Given the description of an element on the screen output the (x, y) to click on. 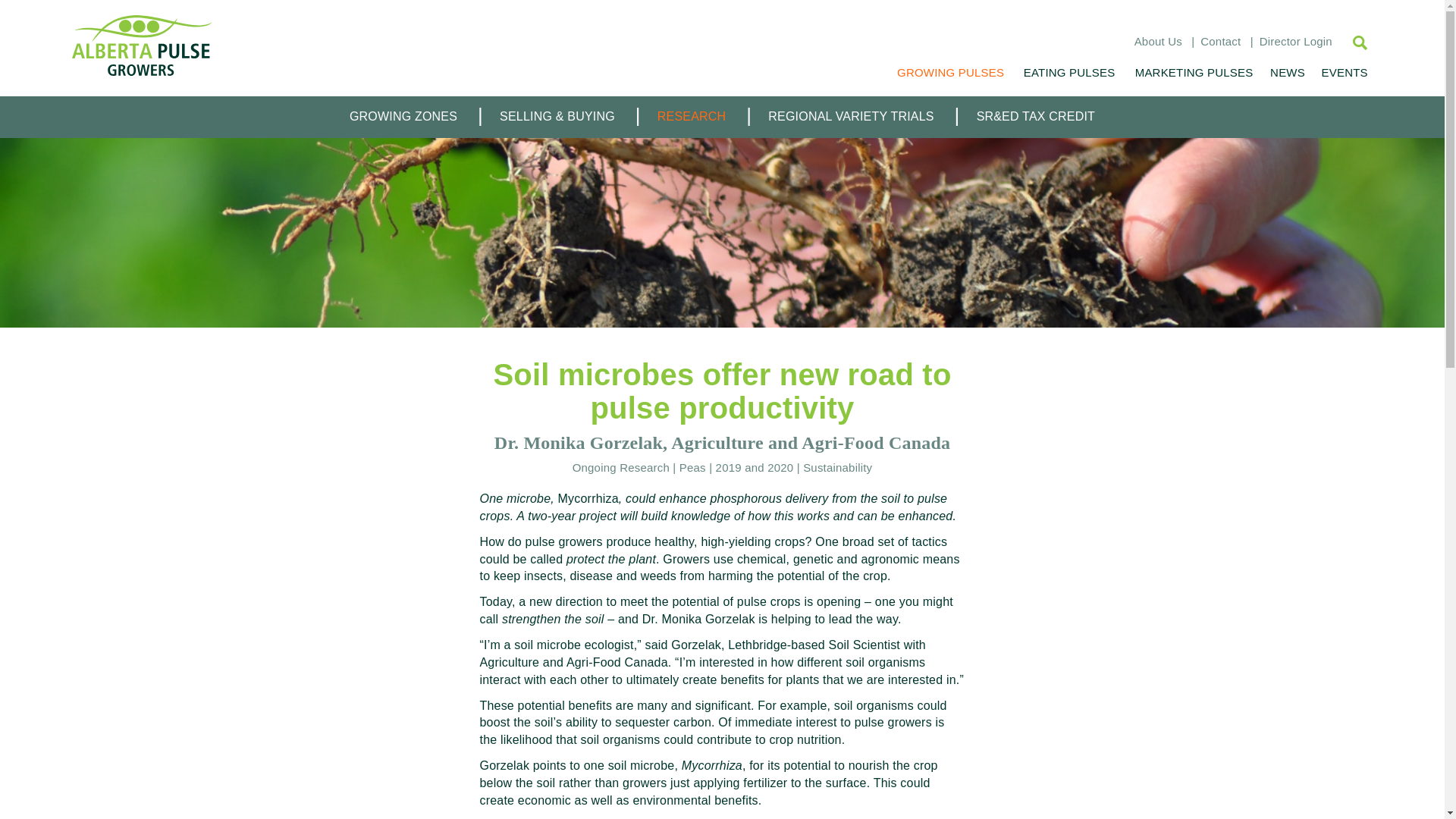
GROWING PULSES (950, 72)
RESEARCH (691, 117)
REGIONAL VARIETY TRIALS (850, 117)
MARKETING PULSES (1193, 72)
About Us (1158, 41)
NEWS (1286, 72)
SEARCH (1352, 41)
Contact (1219, 41)
Submit (64, 13)
EATING PULSES (1068, 72)
